Given the description of an element on the screen output the (x, y) to click on. 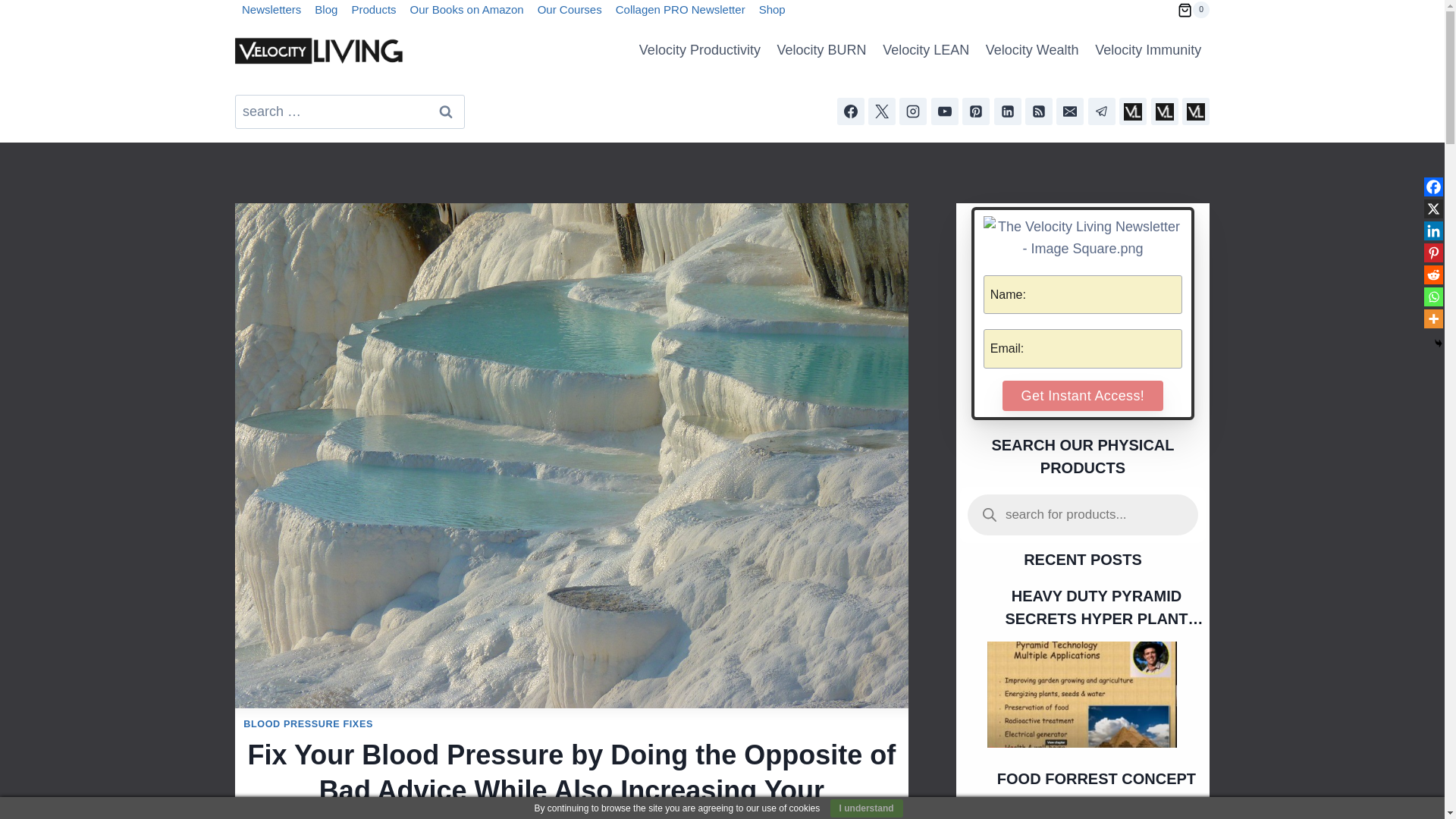
Velocity BURN (821, 50)
Products (373, 10)
Email: (1083, 348)
0 (1193, 9)
Facebook (1432, 186)
Blog (325, 10)
BLOOD PRESSURE FIXES (307, 724)
Velocity LEAN (925, 50)
Collagen PRO Newsletter (680, 10)
Name: (1083, 294)
Velocity Wealth (1031, 50)
Get Instant Access! (1083, 395)
Search (445, 111)
Our Books on Amazon (467, 10)
Search (445, 111)
